Given the description of an element on the screen output the (x, y) to click on. 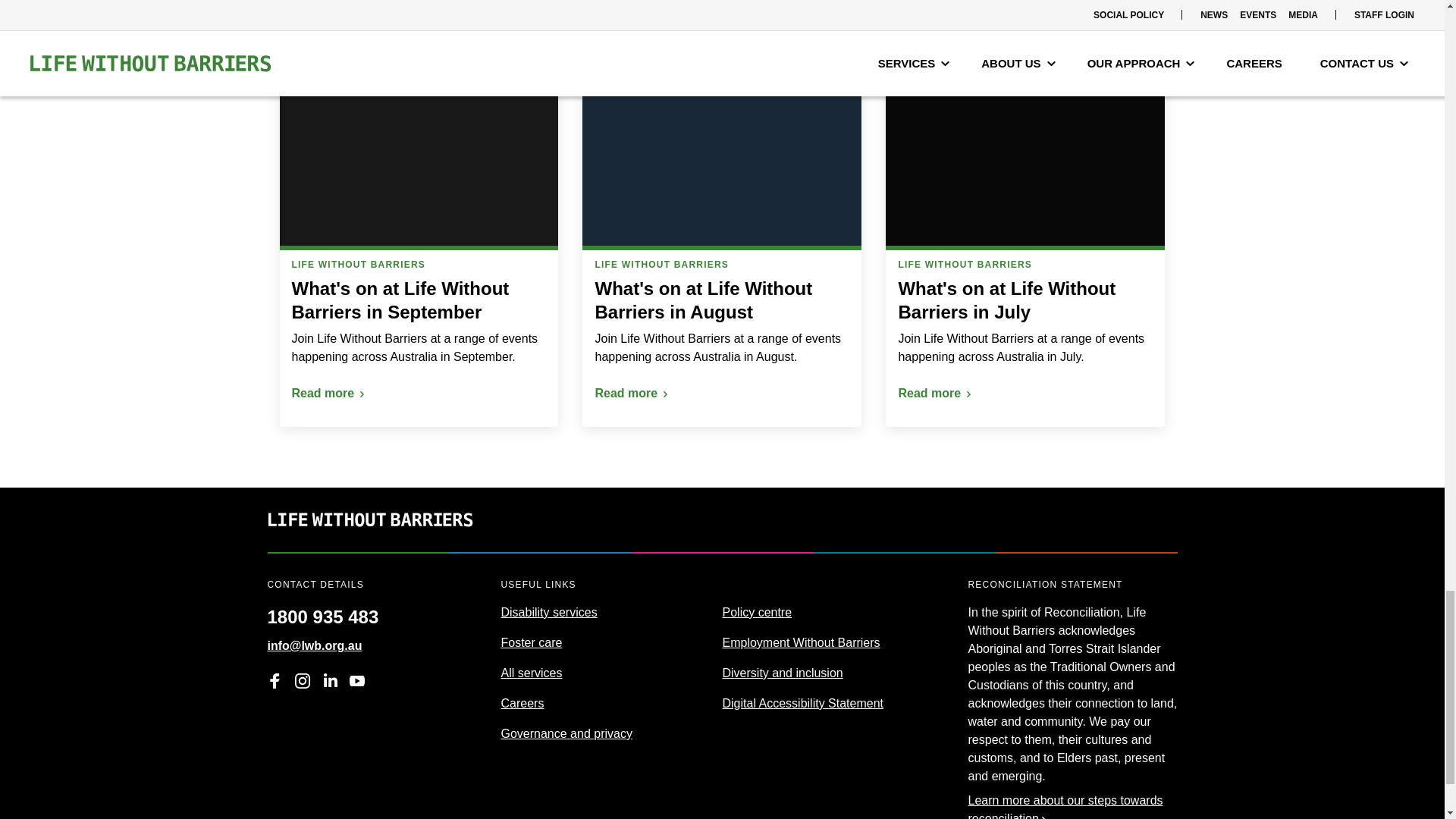
1800 935 483 (322, 610)
Disability services (548, 612)
Life Without Barriers home page (368, 542)
